Given the description of an element on the screen output the (x, y) to click on. 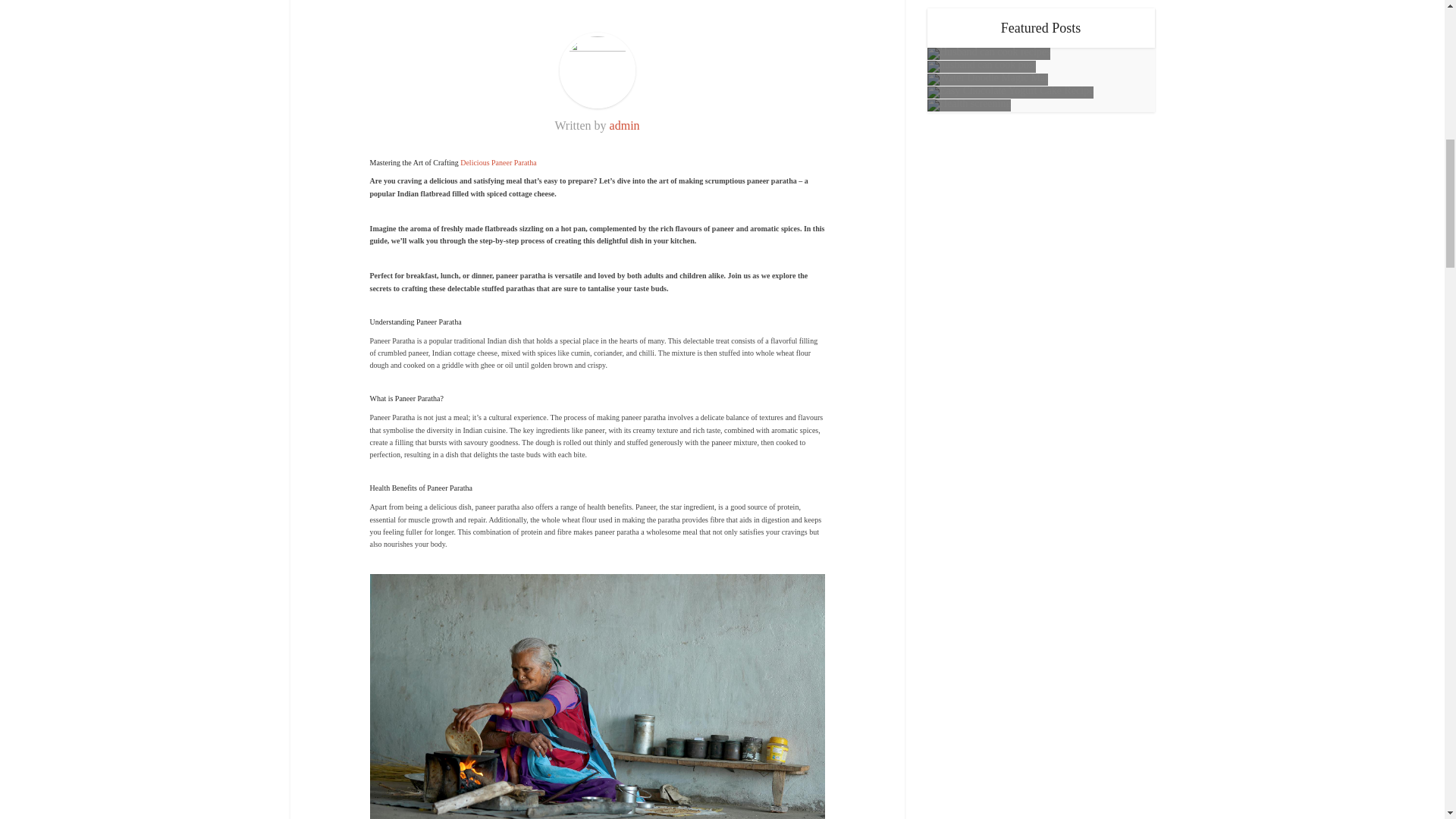
admin (625, 124)
